Given the description of an element on the screen output the (x, y) to click on. 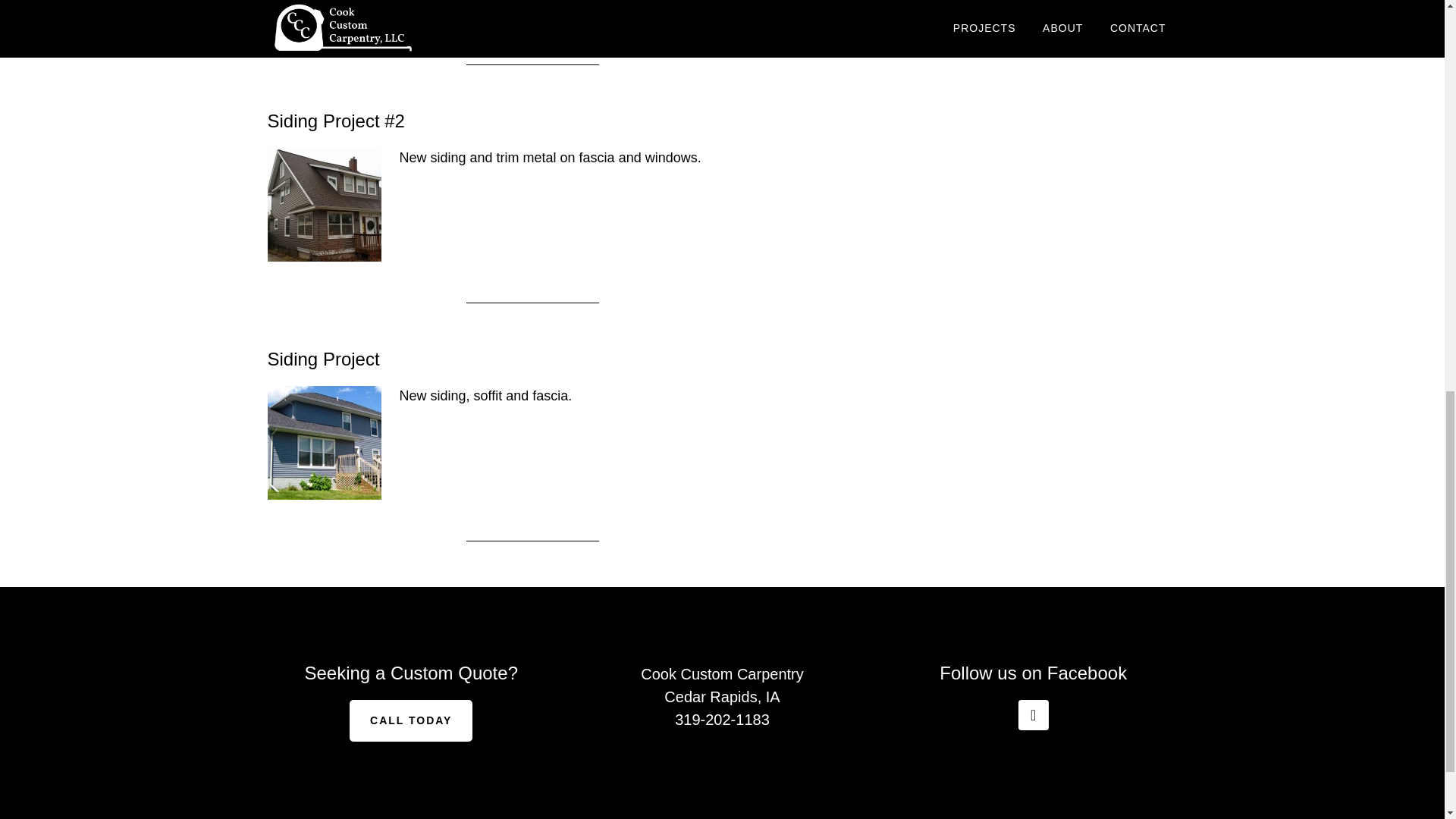
CALL TODAY (410, 721)
Siding Project (322, 358)
319-202-1183 (722, 719)
